Given the description of an element on the screen output the (x, y) to click on. 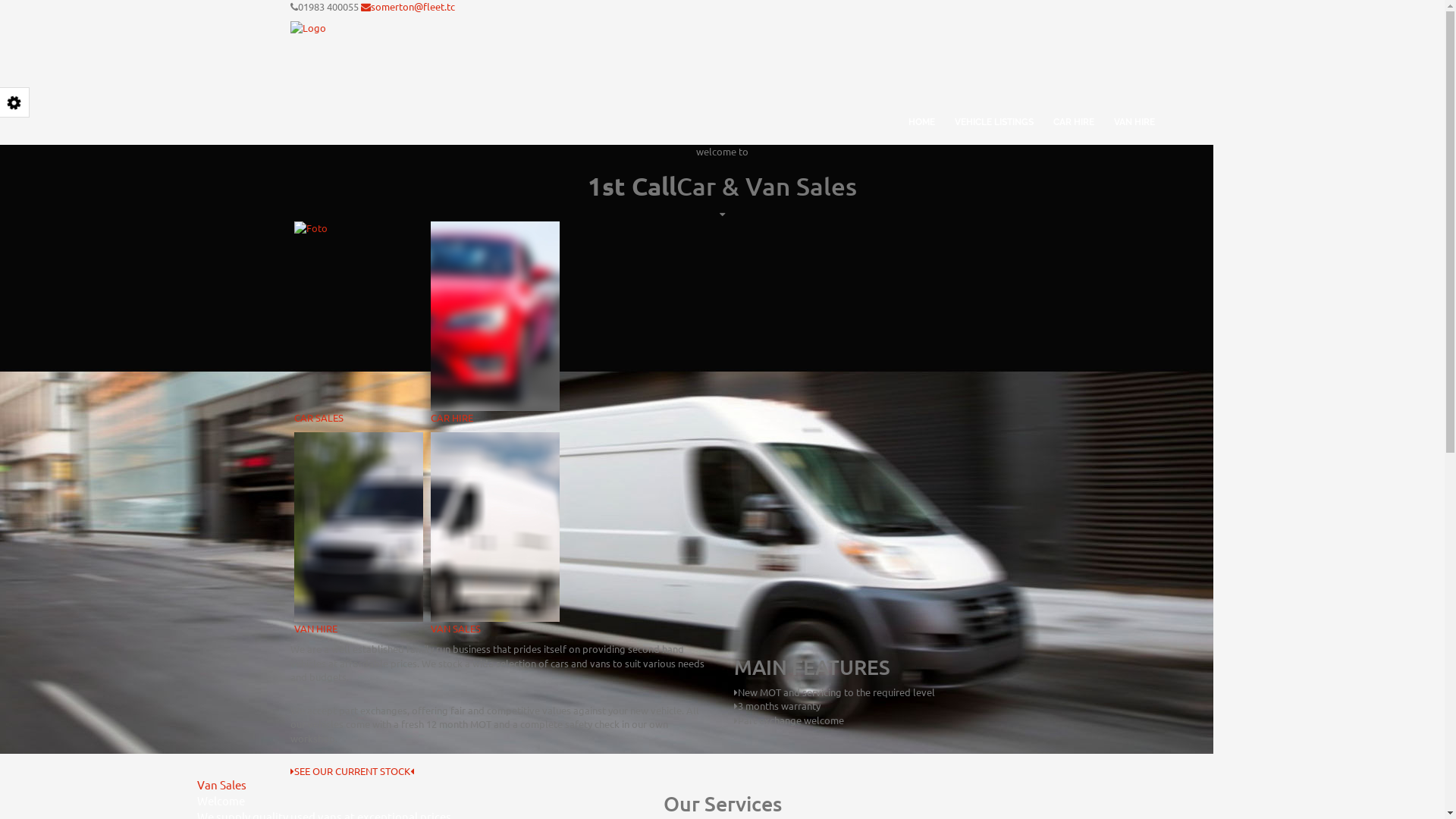
VAN HIRE Element type: text (1134, 111)
Car Sales Element type: text (220, 189)
VEHICLE LISTINGS Element type: text (993, 111)
somerton@fleet.tc Element type: text (407, 6)
Van Sales Element type: text (221, 784)
SEE OUR CURRENT STOCK Element type: text (721, 771)
CAR HIRE Element type: text (1073, 111)
VAN HIRE Element type: text (358, 534)
CAR SALES Element type: text (358, 323)
VAN SALES Element type: text (494, 534)
HOME Element type: text (920, 111)
CAR HIRE Element type: text (494, 323)
